Given the description of an element on the screen output the (x, y) to click on. 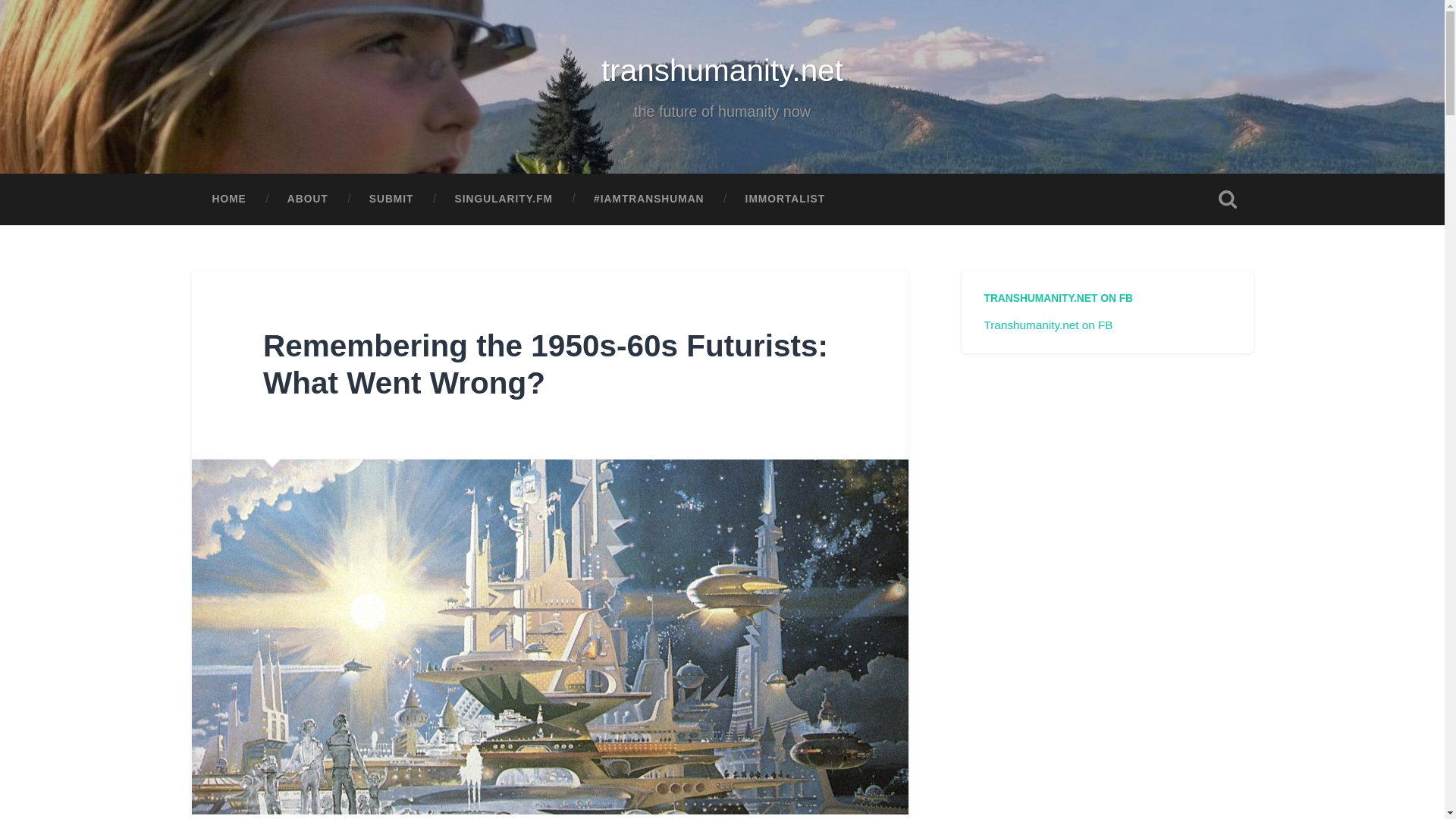
HOME (228, 199)
Helping Move Transhumanism Forward (649, 199)
Remembering the 1950s-60s Futurists: What Went Wrong? (545, 364)
SUBMIT (391, 199)
transhumanity.net (722, 70)
SINGULARITY.FM (503, 199)
IMMORTALIST (785, 199)
ABOUT (307, 199)
